Given the description of an element on the screen output the (x, y) to click on. 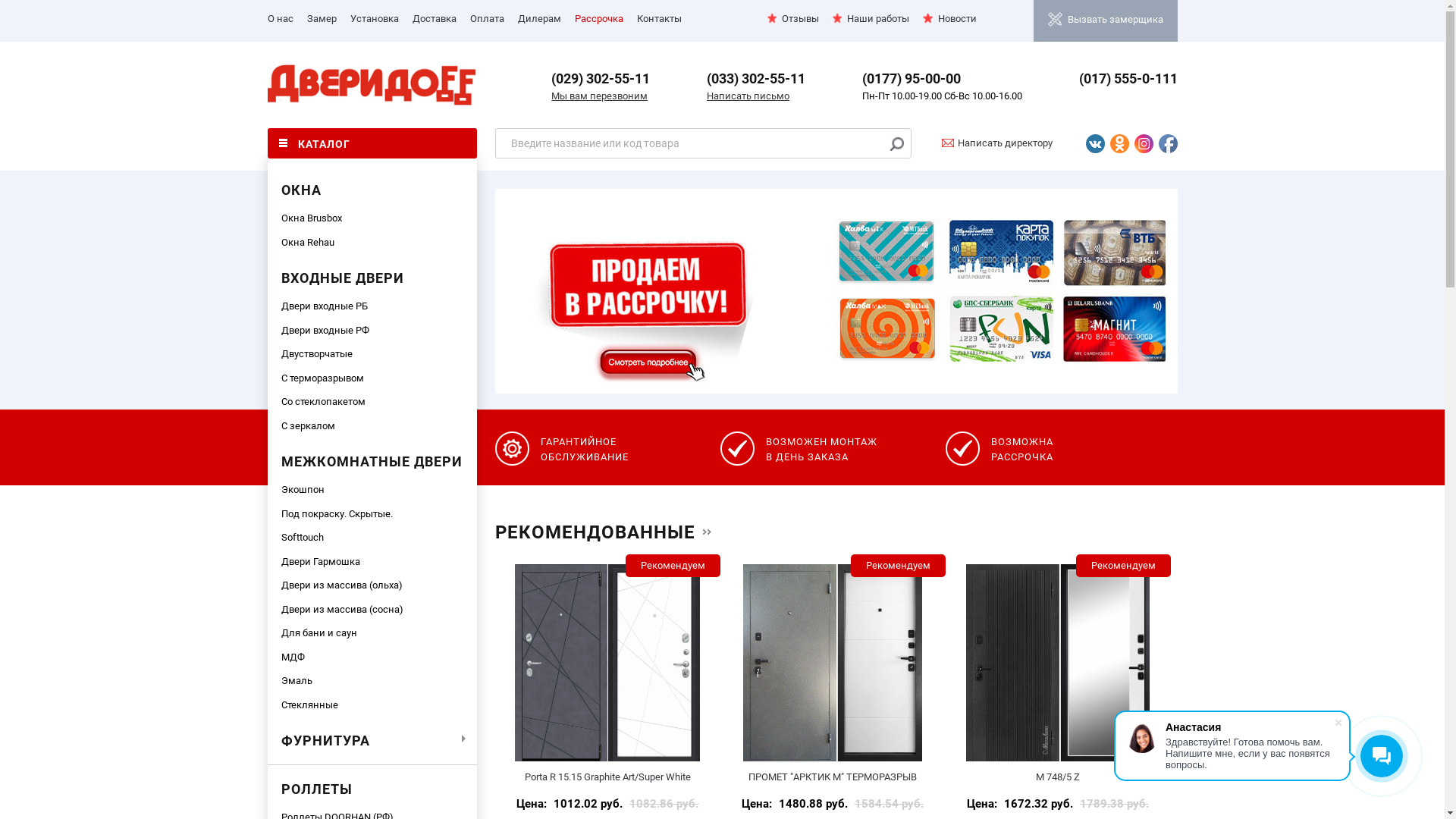
Softtouch Element type: text (371, 537)
Porta R 15.15 Graphite Art/Super White Element type: text (607, 776)
(029) 302-55-11 Element type: text (600, 78)
(033) 302-55-11 Element type: text (755, 78)
(017) 555-0-111 Element type: text (1127, 78)
Porta R 15.15 Graphite Art/Super White Element type: hover (606, 662)
(0177) 95-00-00 Element type: text (911, 78)
